Given the description of an element on the screen output the (x, y) to click on. 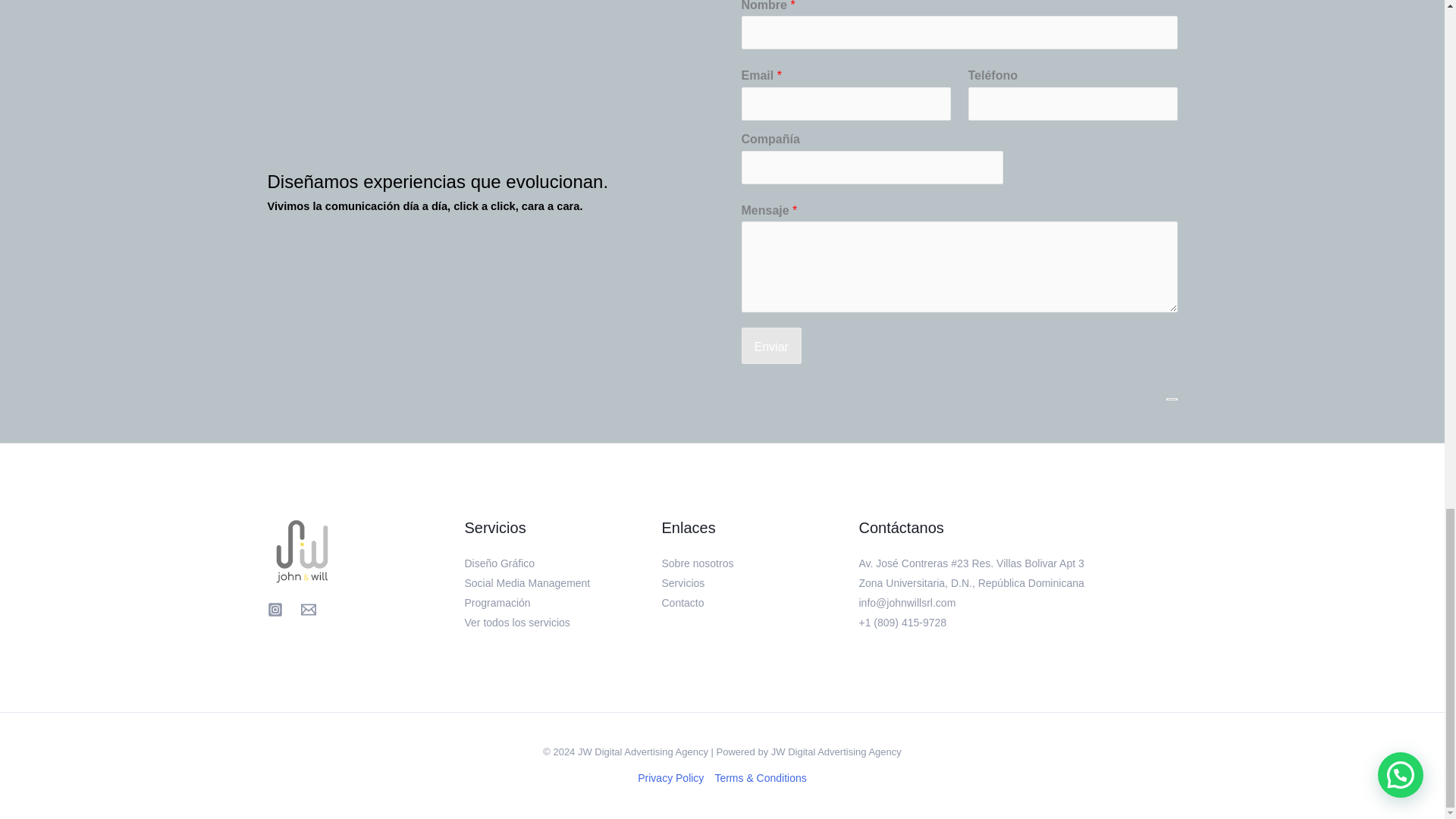
Enviar (771, 345)
b88 slot (779, 431)
slot online gacor (802, 521)
keluaran togel hari ini (815, 566)
sbobet login (791, 656)
situs panen77 (796, 408)
judi slot gacor online (813, 701)
rtp slot online (793, 678)
info rtp slot gacor (804, 543)
daftar panengg (799, 589)
